Given the description of an element on the screen output the (x, y) to click on. 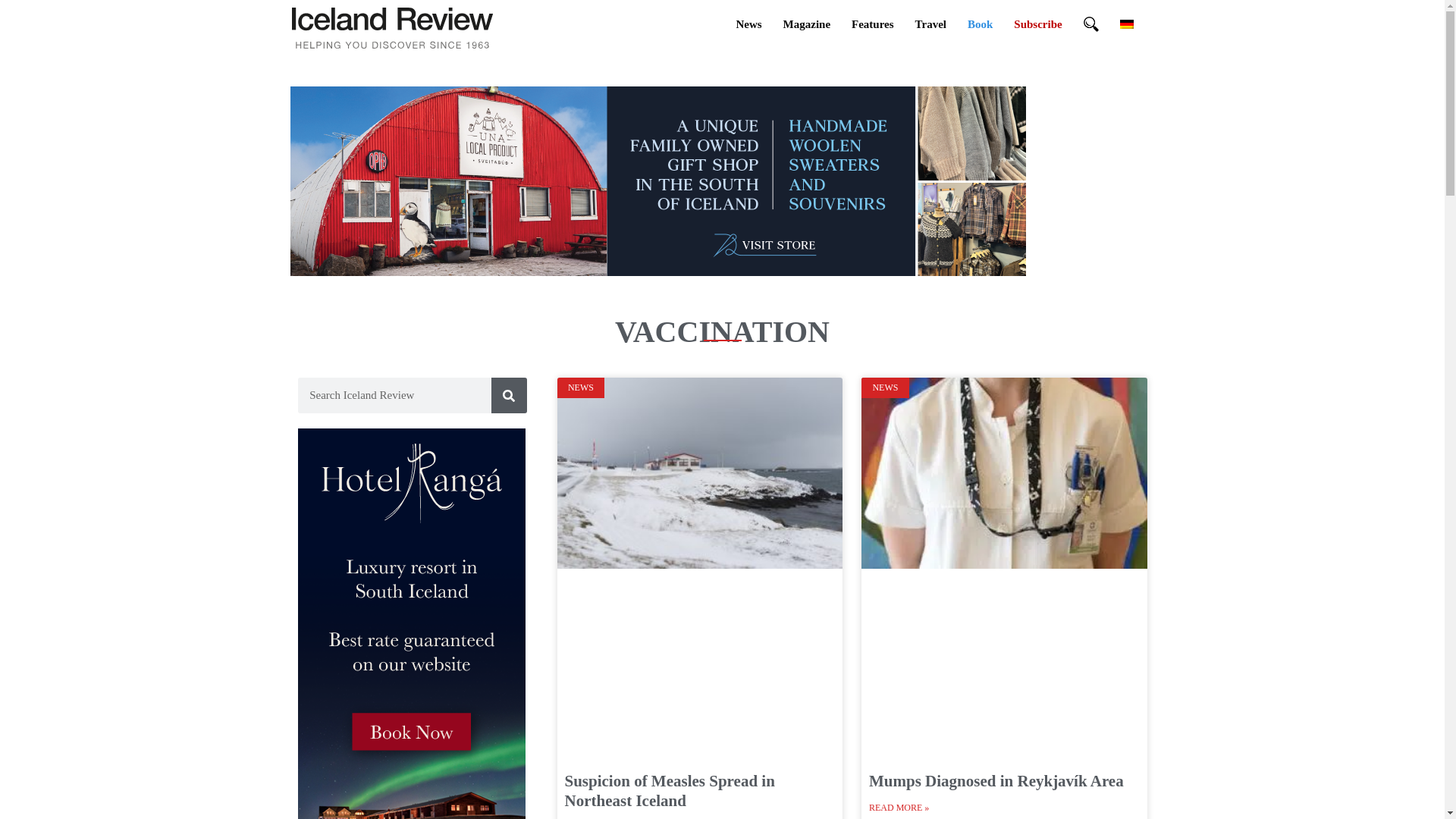
Book (979, 23)
News (748, 23)
Magazine (807, 23)
Subscribe (1037, 23)
Travel (930, 23)
Features (872, 23)
